Given the description of an element on the screen output the (x, y) to click on. 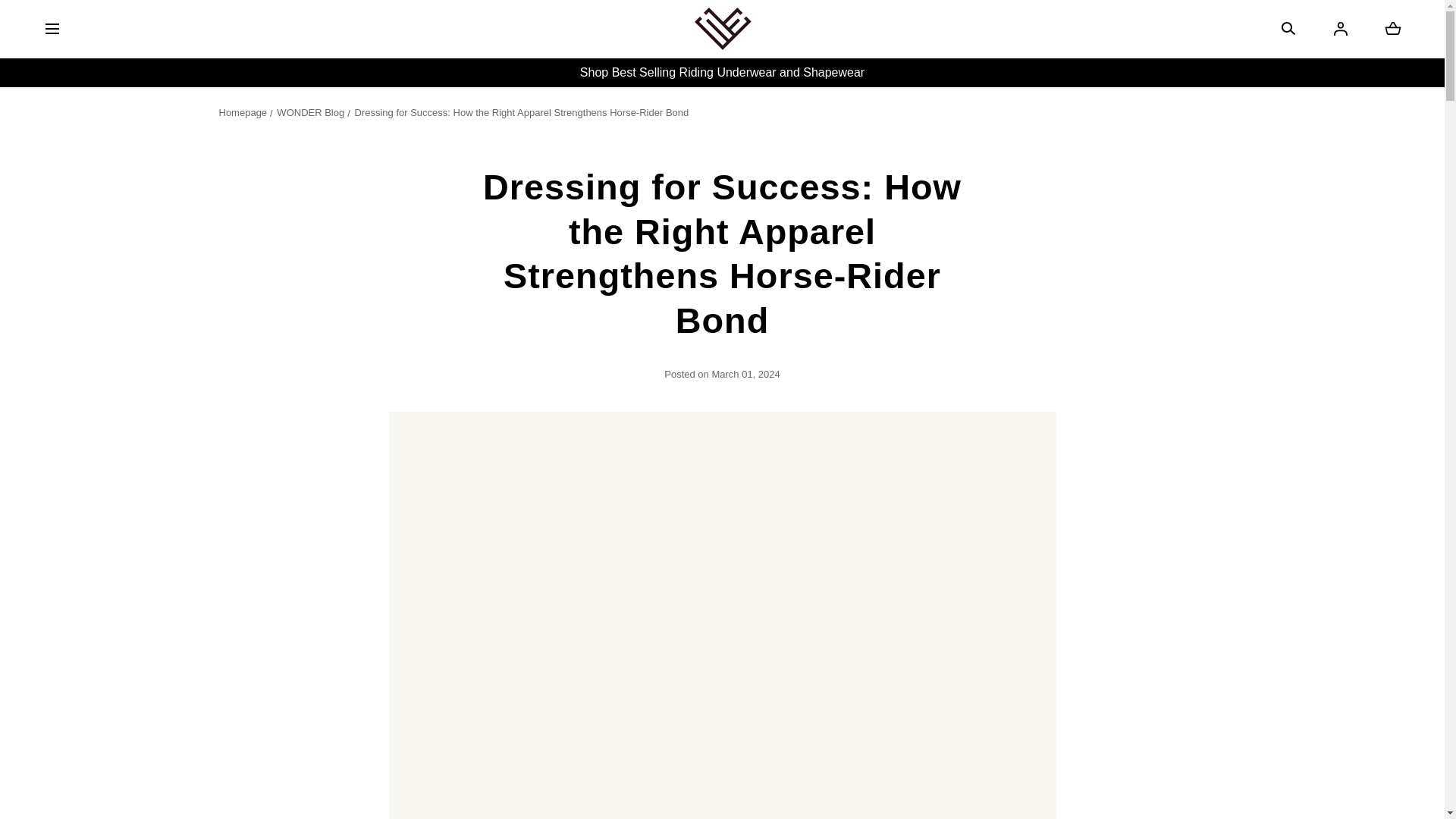
SKIP TO CONTENT (80, 18)
Homepage (245, 112)
WONDER Blog (313, 112)
Log in (1340, 28)
Wonder Equestrian (1393, 28)
